Given the description of an element on the screen output the (x, y) to click on. 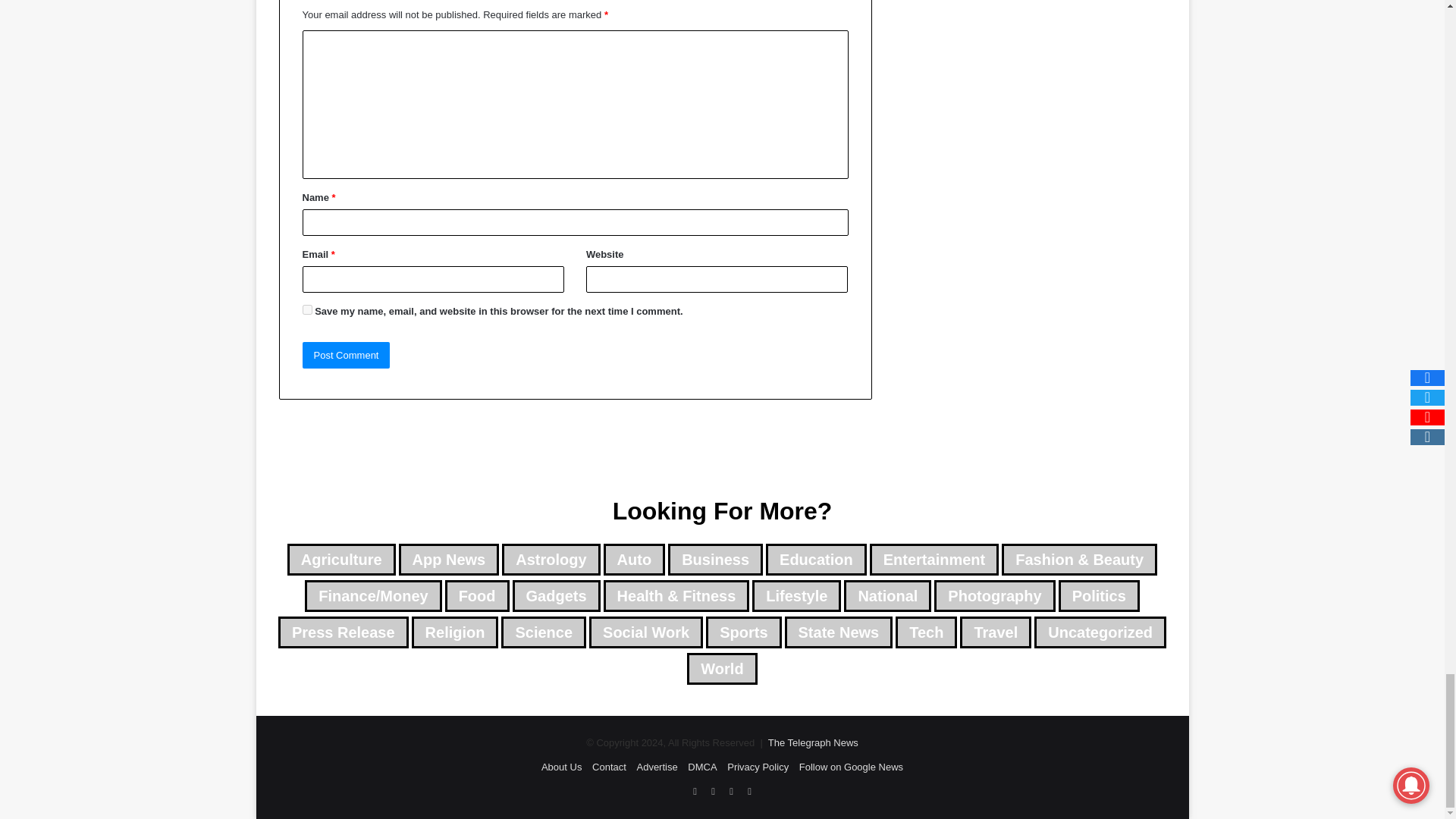
Post Comment (345, 355)
yes (306, 309)
